Given the description of an element on the screen output the (x, y) to click on. 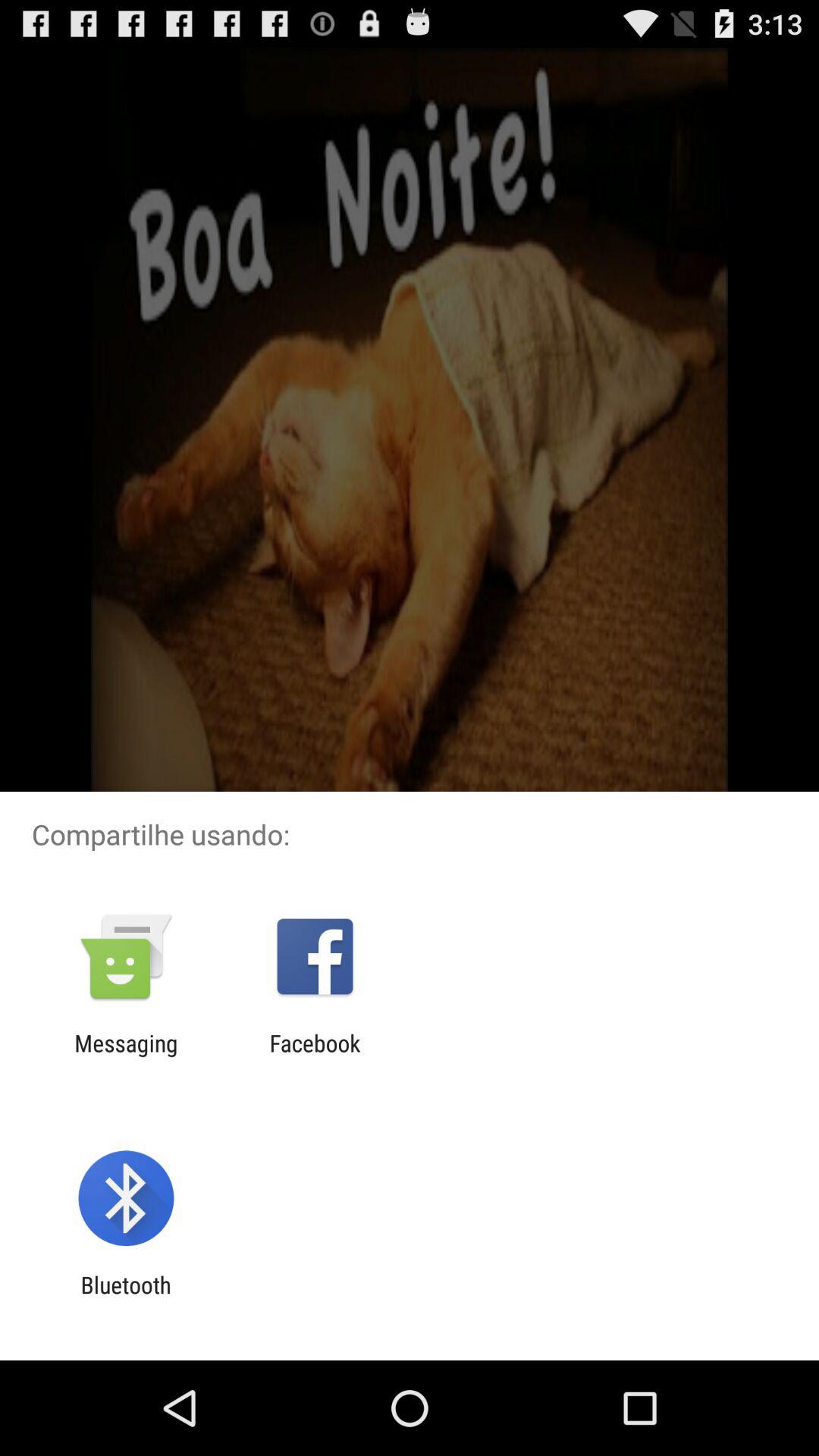
click bluetooth icon (125, 1298)
